Given the description of an element on the screen output the (x, y) to click on. 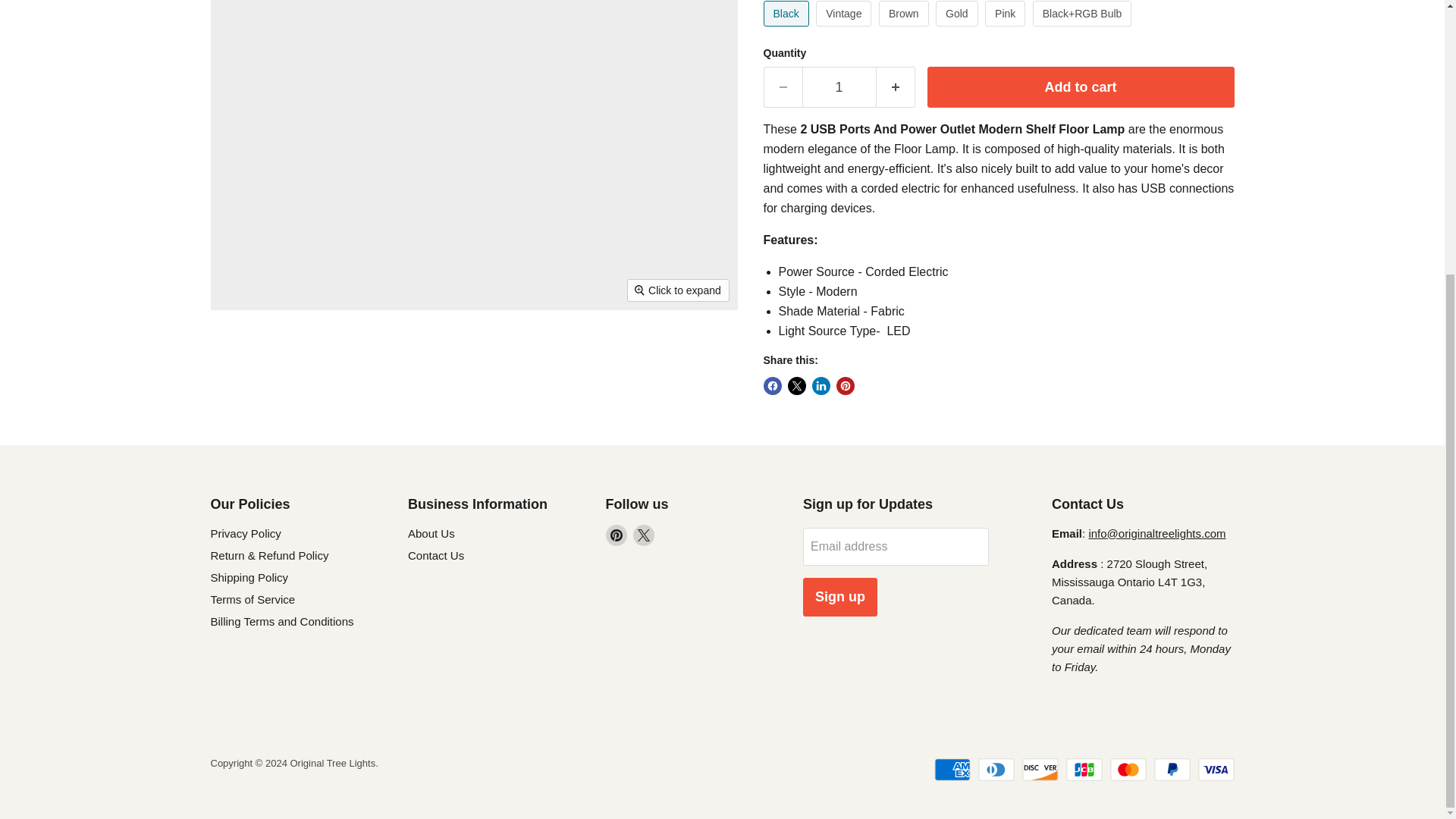
1 (839, 87)
X (642, 535)
PayPal (1172, 769)
Diners Club (996, 769)
JCB (1083, 769)
Pinterest (615, 535)
Mastercard (1128, 769)
Discover (1040, 769)
American Express (952, 769)
